Given the description of an element on the screen output the (x, y) to click on. 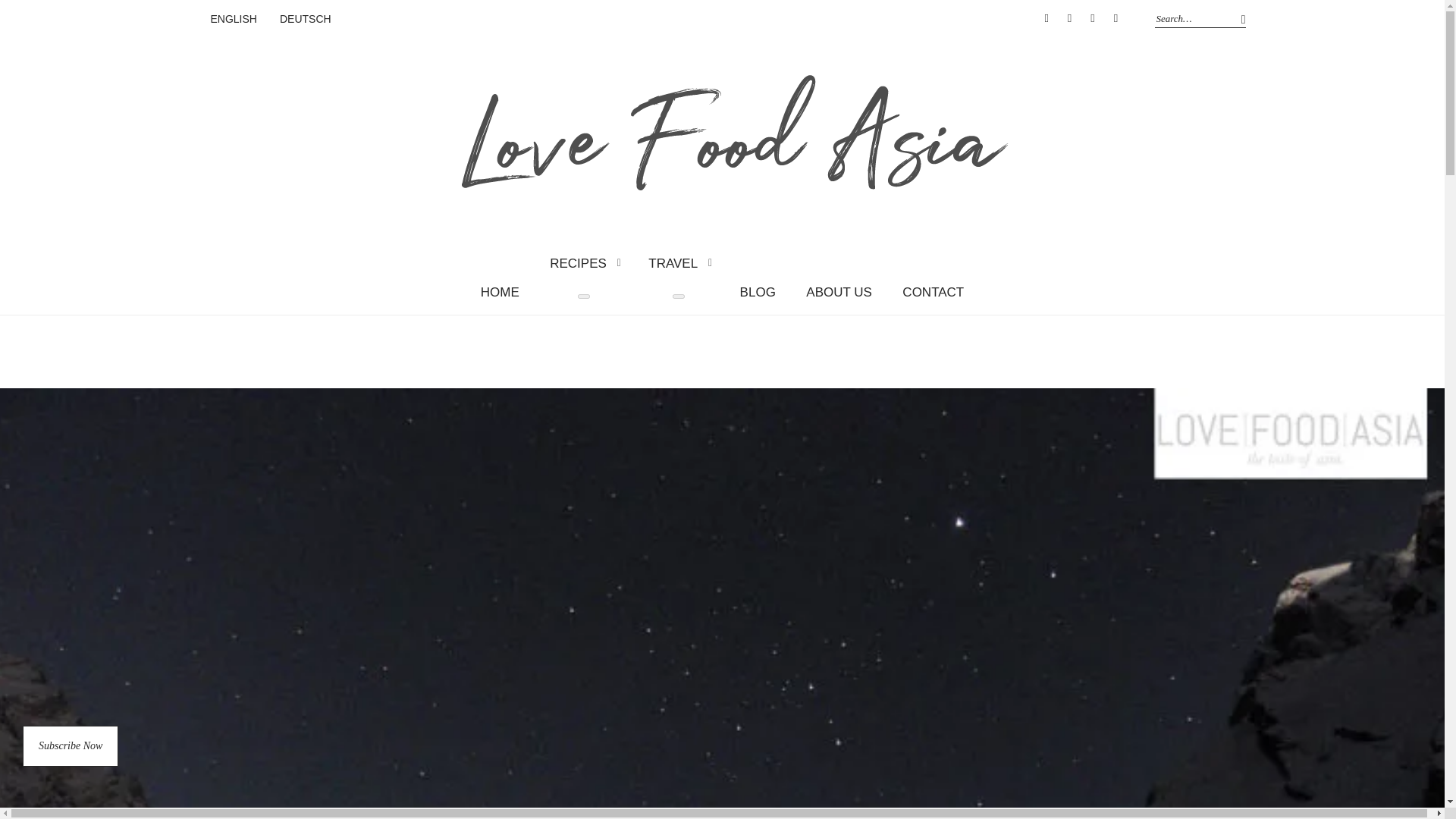
Instagram (1046, 18)
RECIPES (583, 262)
DEUTSCH (305, 19)
Twitter (1092, 18)
Facebook (1069, 18)
ENGLISH (234, 19)
Tumblr (1114, 18)
HOME (499, 292)
